Given the description of an element on the screen output the (x, y) to click on. 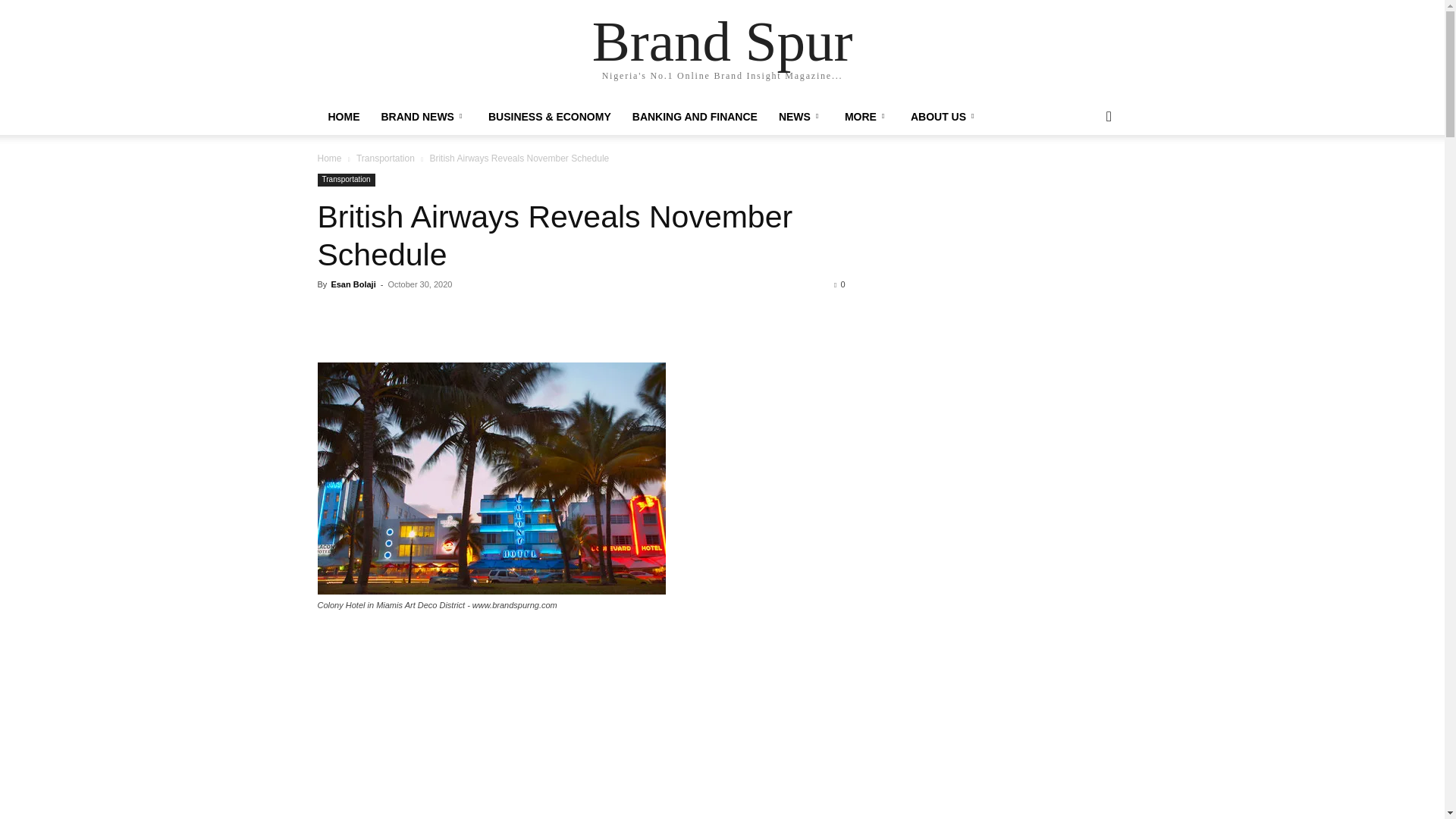
BRAND NEWS (423, 116)
Brand Spur (722, 41)
HOME (343, 116)
